Given the description of an element on the screen output the (x, y) to click on. 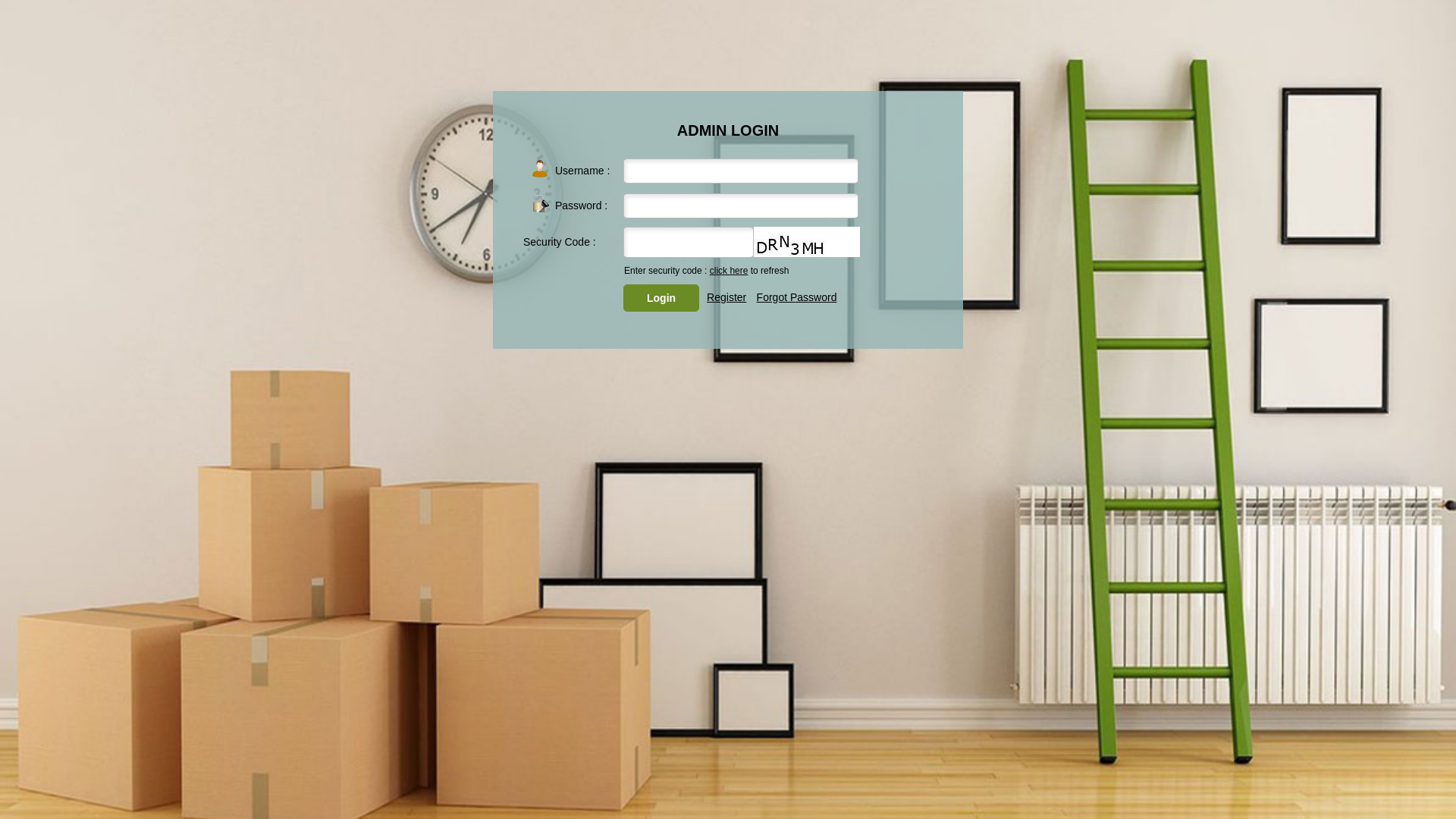
click here Element type: text (728, 270)
Login Element type: text (661, 297)
home Element type: hover (539, 203)
Register Element type: text (726, 297)
home Element type: hover (539, 168)
Forgot Password Element type: text (796, 297)
